Given the description of an element on the screen output the (x, y) to click on. 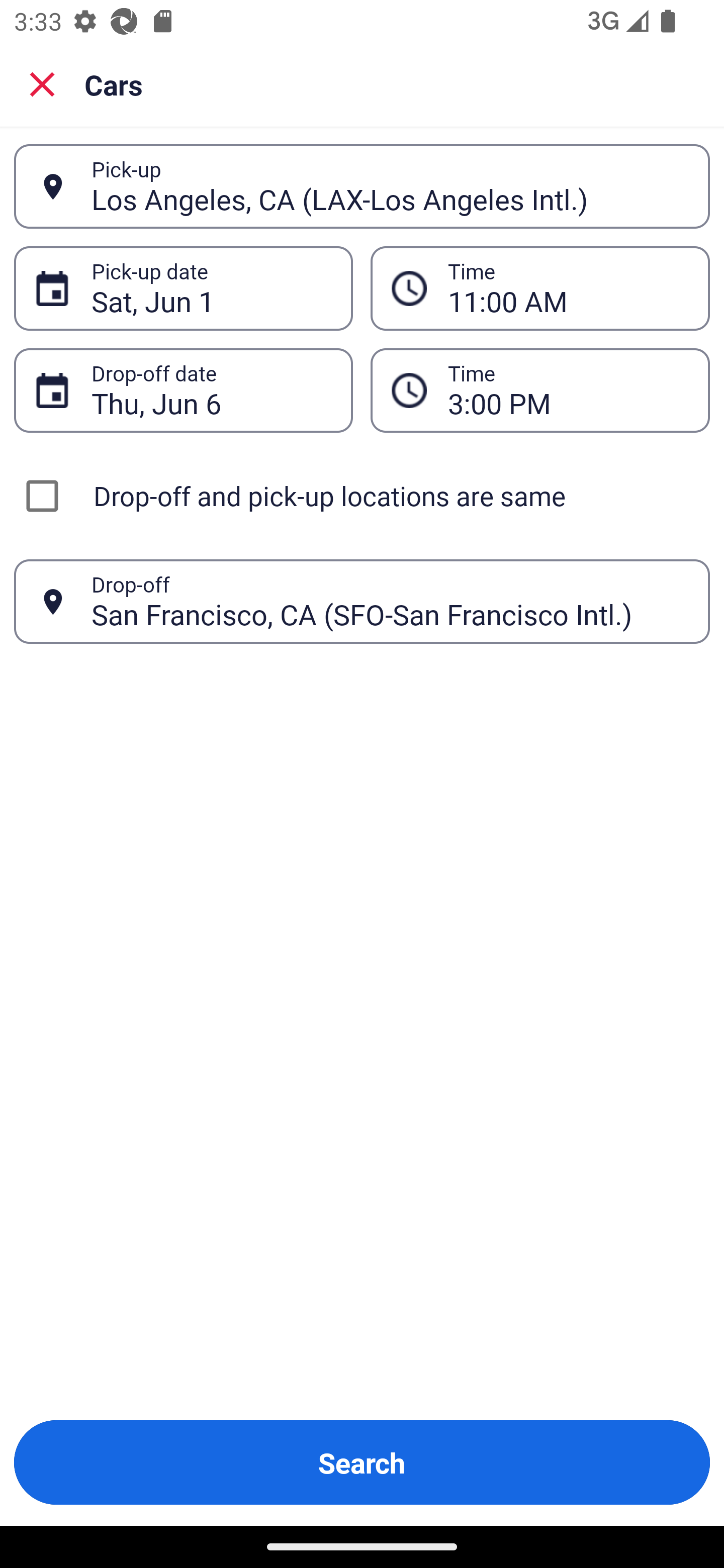
Close search screen (41, 83)
Los Angeles, CA (LAX-Los Angeles Intl.) Pick-up (361, 186)
Los Angeles, CA (LAX-Los Angeles Intl.) (389, 186)
Sat, Jun 1 Pick-up date (183, 288)
11:00 AM (540, 288)
Sat, Jun 1 (211, 288)
11:00 AM (568, 288)
Thu, Jun 6 Drop-off date (183, 390)
3:00 PM (540, 390)
Thu, Jun 6 (211, 390)
3:00 PM (568, 390)
Drop-off and pick-up locations are same (361, 495)
San Francisco, CA (SFO-San Francisco Intl.) (389, 601)
Search Button Search (361, 1462)
